Given the description of an element on the screen output the (x, y) to click on. 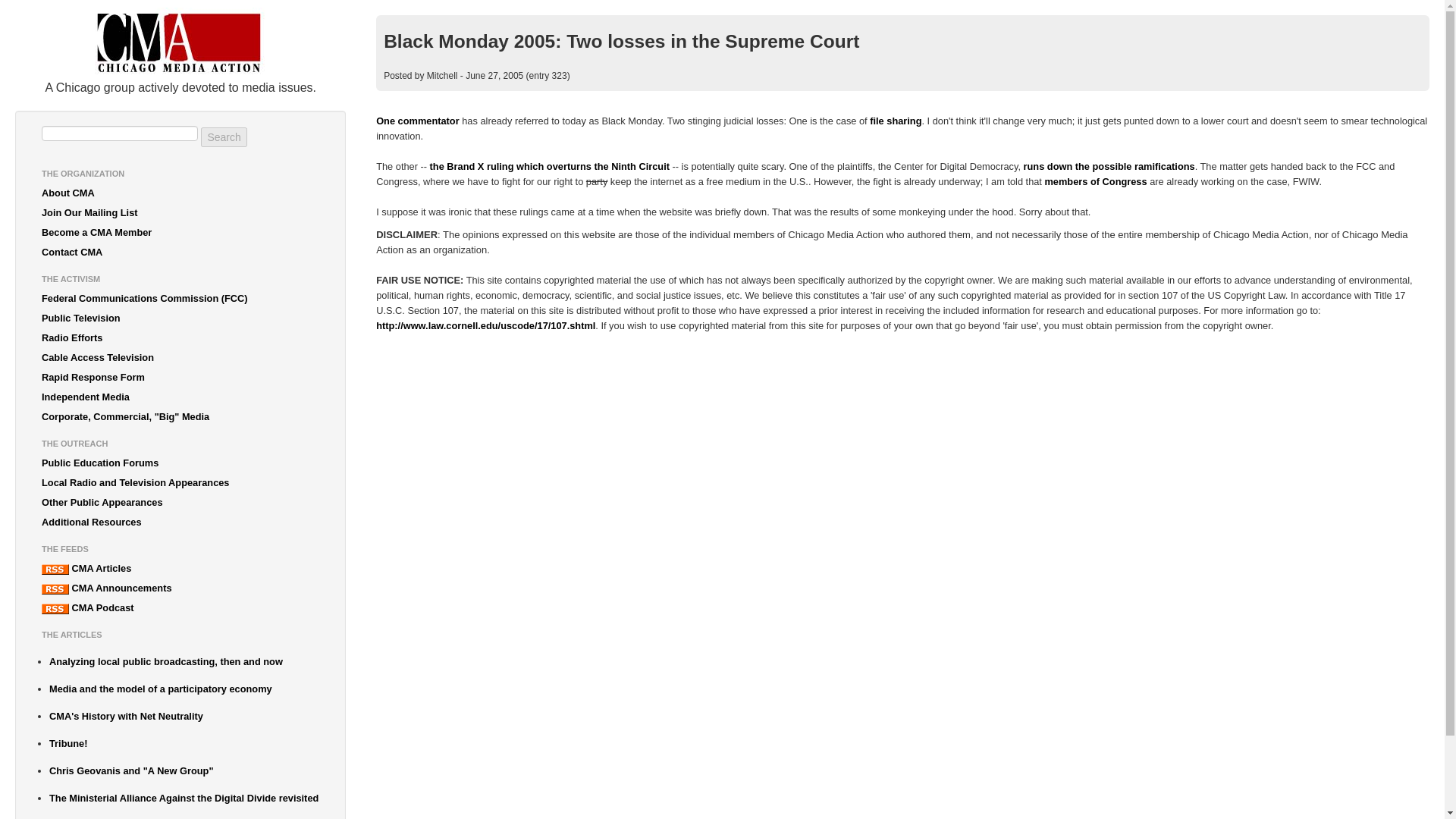
About CMA (180, 193)
Corporate, Commercial, "Big" Media (180, 416)
CMA's History with Net Neutrality (183, 716)
Tribune! (183, 743)
Local Radio and Television Appearances (180, 483)
Rapid Response Form (180, 377)
CMA Podcast (180, 608)
Become a CMA Member (180, 232)
Independent Media (180, 397)
Chris Geovanis and "A New Group" (183, 771)
Contact CMA (180, 252)
runs down the possible ramifications (1109, 165)
Analyzing local public broadcasting, then and now (183, 661)
